Given the description of an element on the screen output the (x, y) to click on. 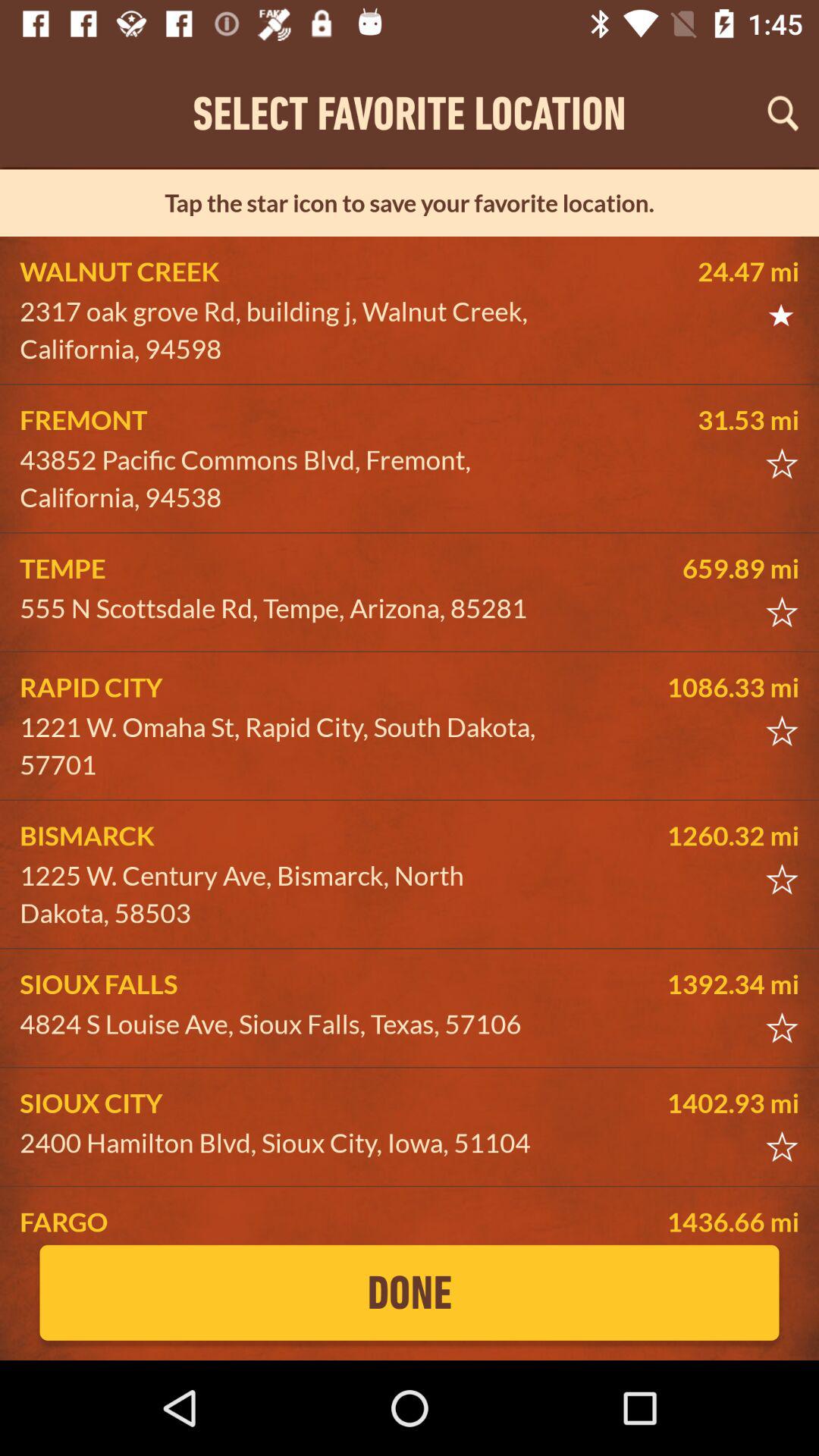
scroll to 2317 oak grove (285, 330)
